Given the description of an element on the screen output the (x, y) to click on. 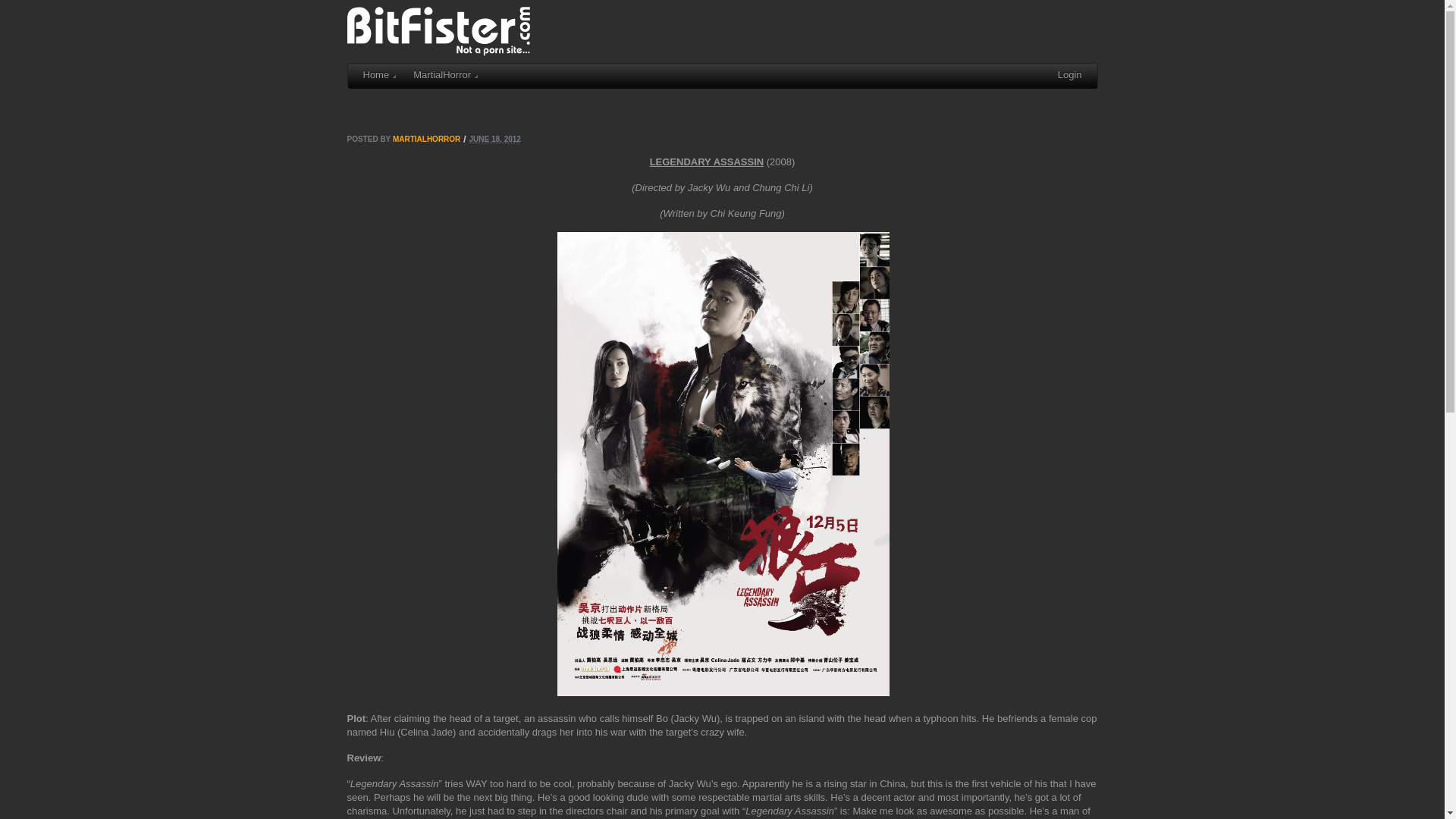
MARTIALHORROR (426, 139)
Posts by MartialHorror (426, 139)
Home (378, 75)
MartialHorror (443, 75)
Login (1070, 75)
